Given the description of an element on the screen output the (x, y) to click on. 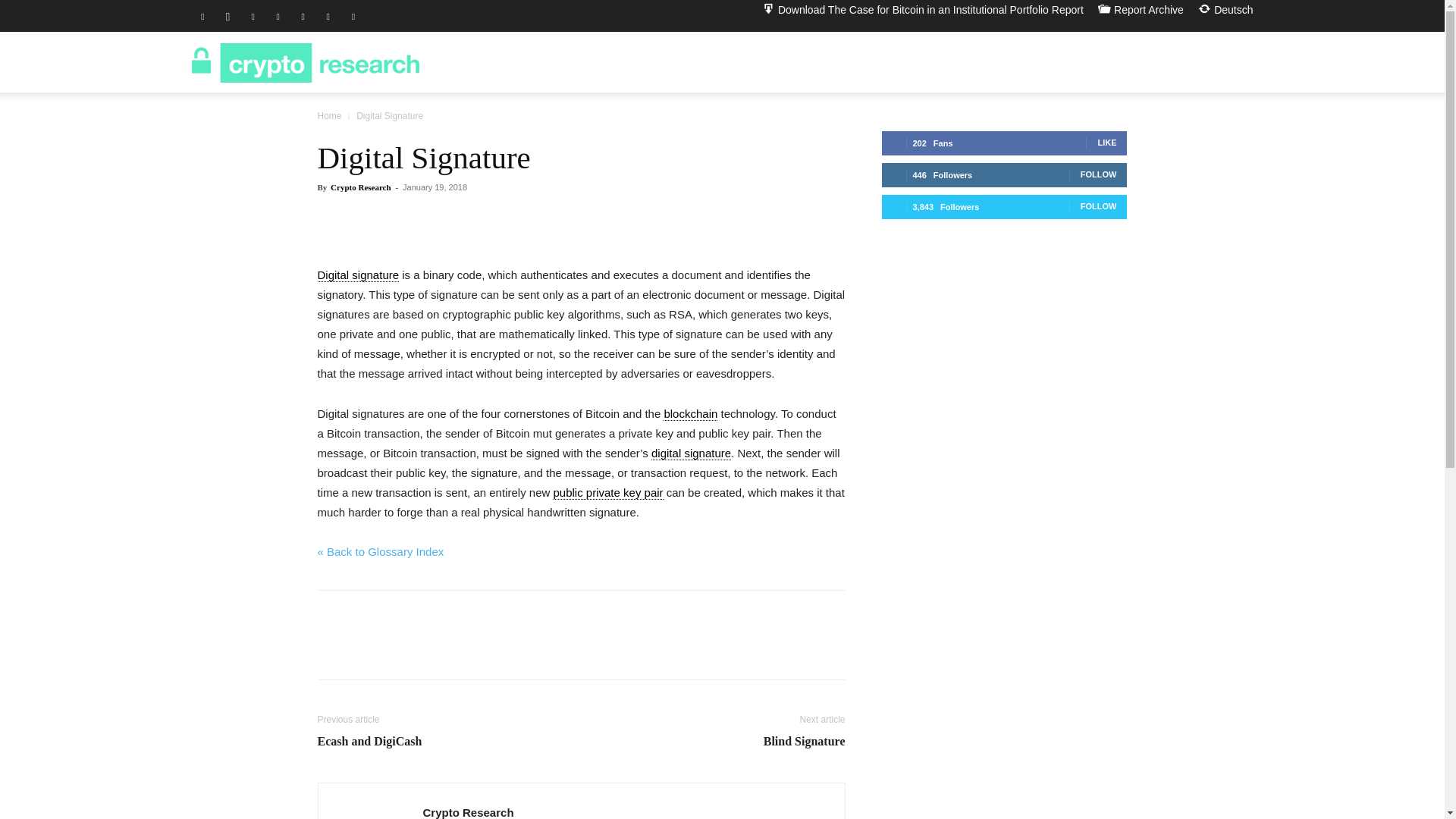
Crypto Research (360, 186)
Newsletter (1154, 61)
Deutsch (1225, 9)
Research Reports (948, 61)
Search (1210, 134)
Report Archive (1140, 9)
Home (328, 115)
Partners (1060, 61)
Crypto Research Report (304, 61)
